Given the description of an element on the screen output the (x, y) to click on. 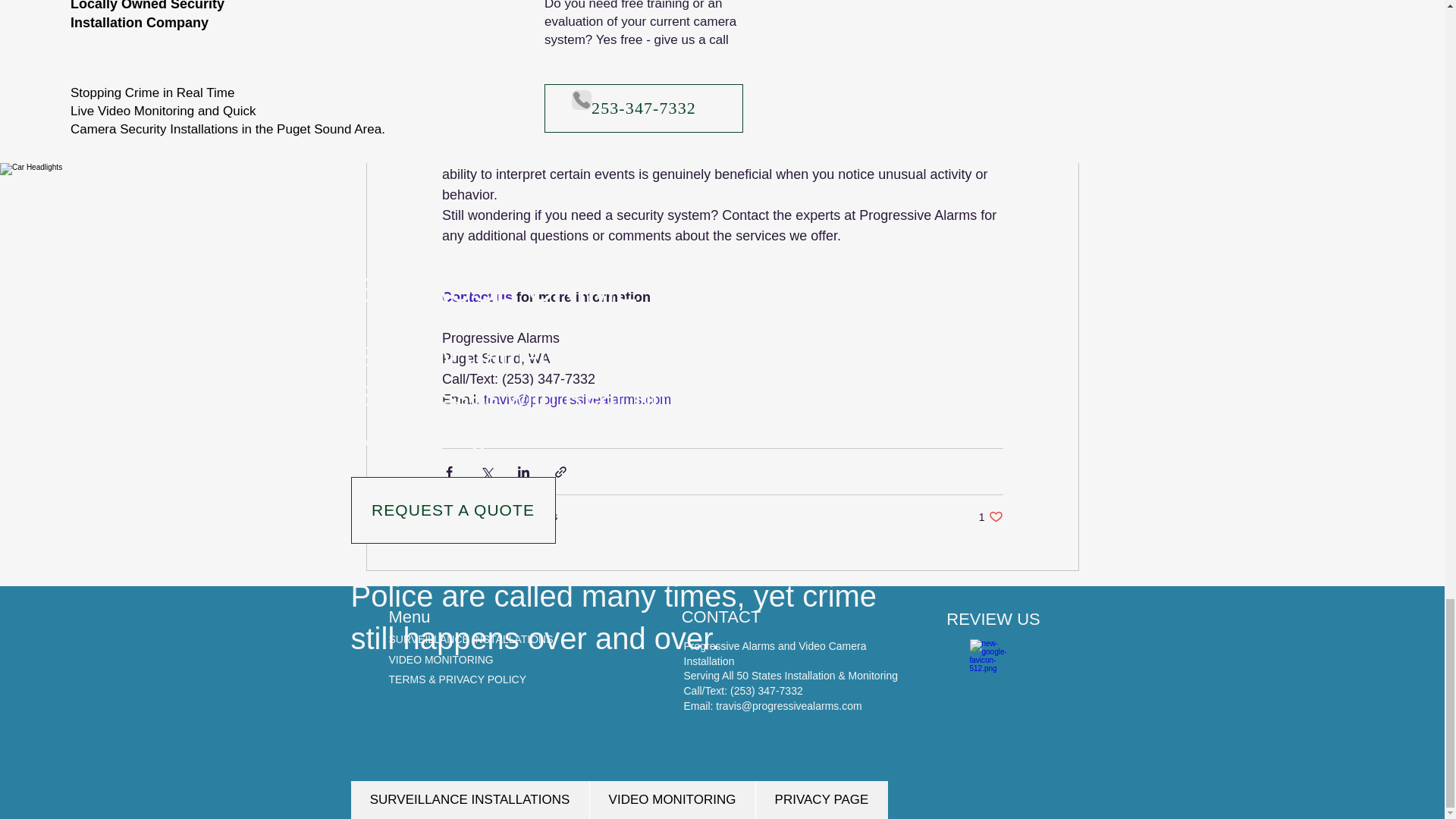
VIDEO MONITORING (440, 659)
audio or sound (990, 516)
Contact us (947, 112)
SURVEILLANCE INSTALLATIONS (476, 296)
